Given the description of an element on the screen output the (x, y) to click on. 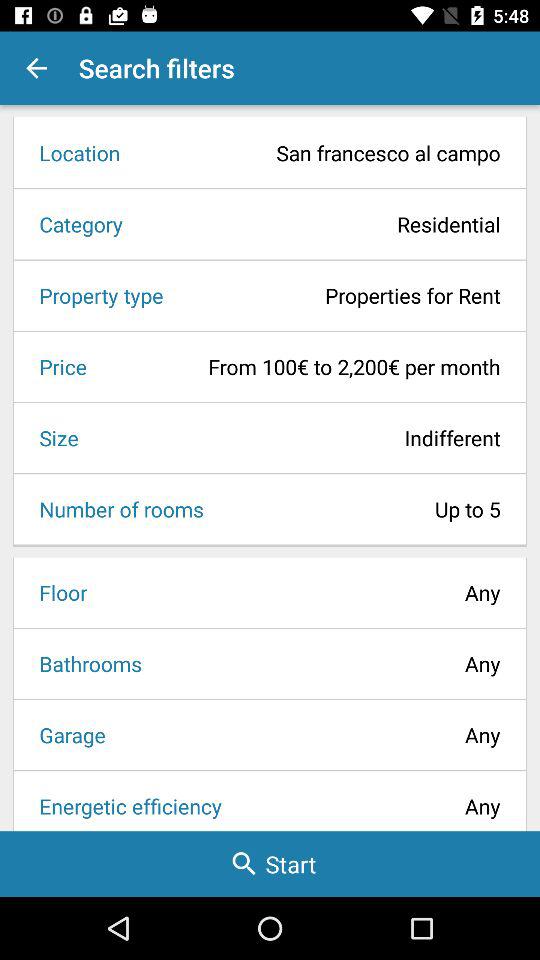
scroll until the size (52, 437)
